Given the description of an element on the screen output the (x, y) to click on. 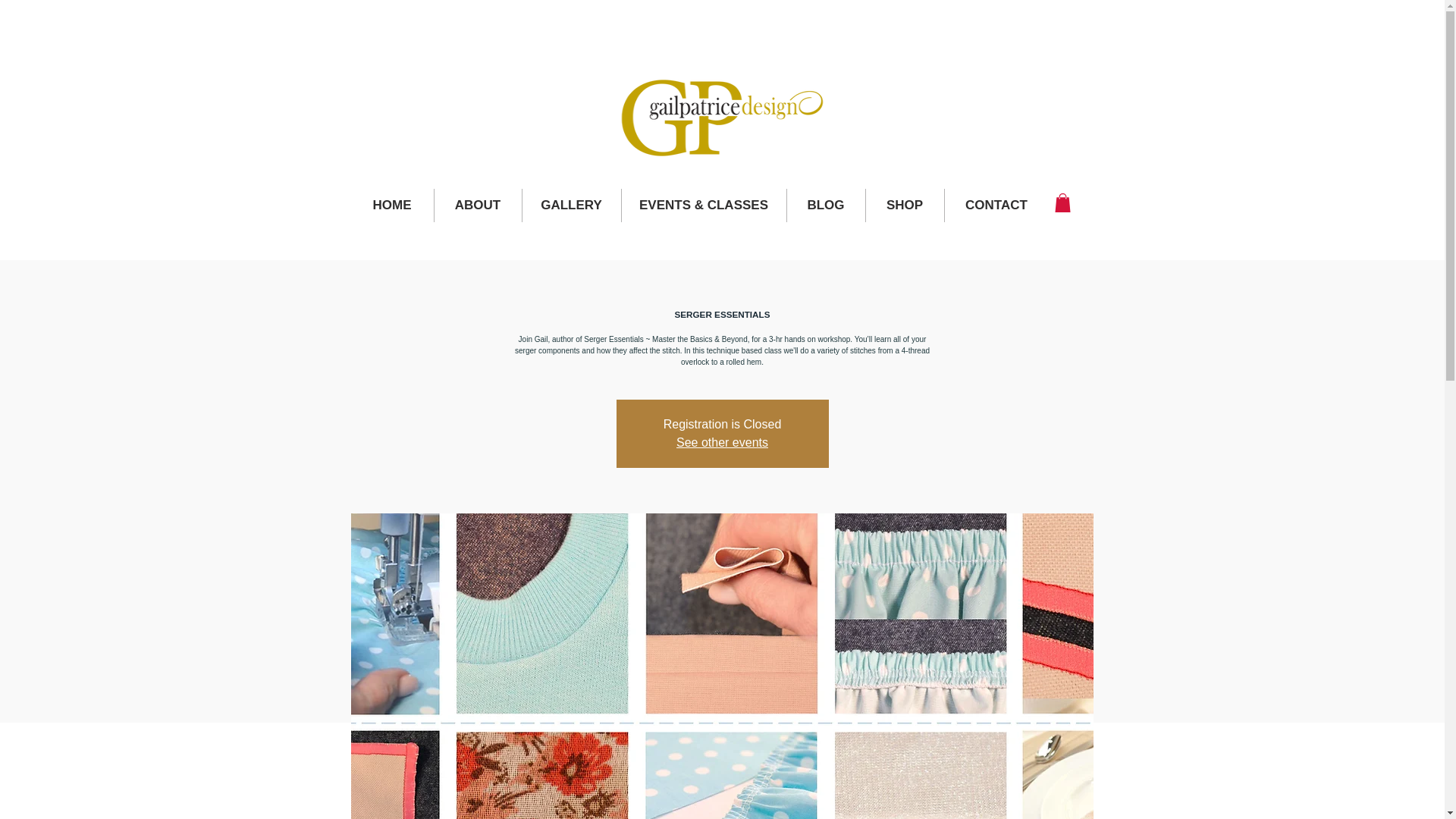
BLOG (825, 205)
ABOUT (477, 205)
CONTACT (996, 205)
HOME (391, 205)
See other events (722, 441)
GALLERY (570, 205)
SHOP (904, 205)
